Given the description of an element on the screen output the (x, y) to click on. 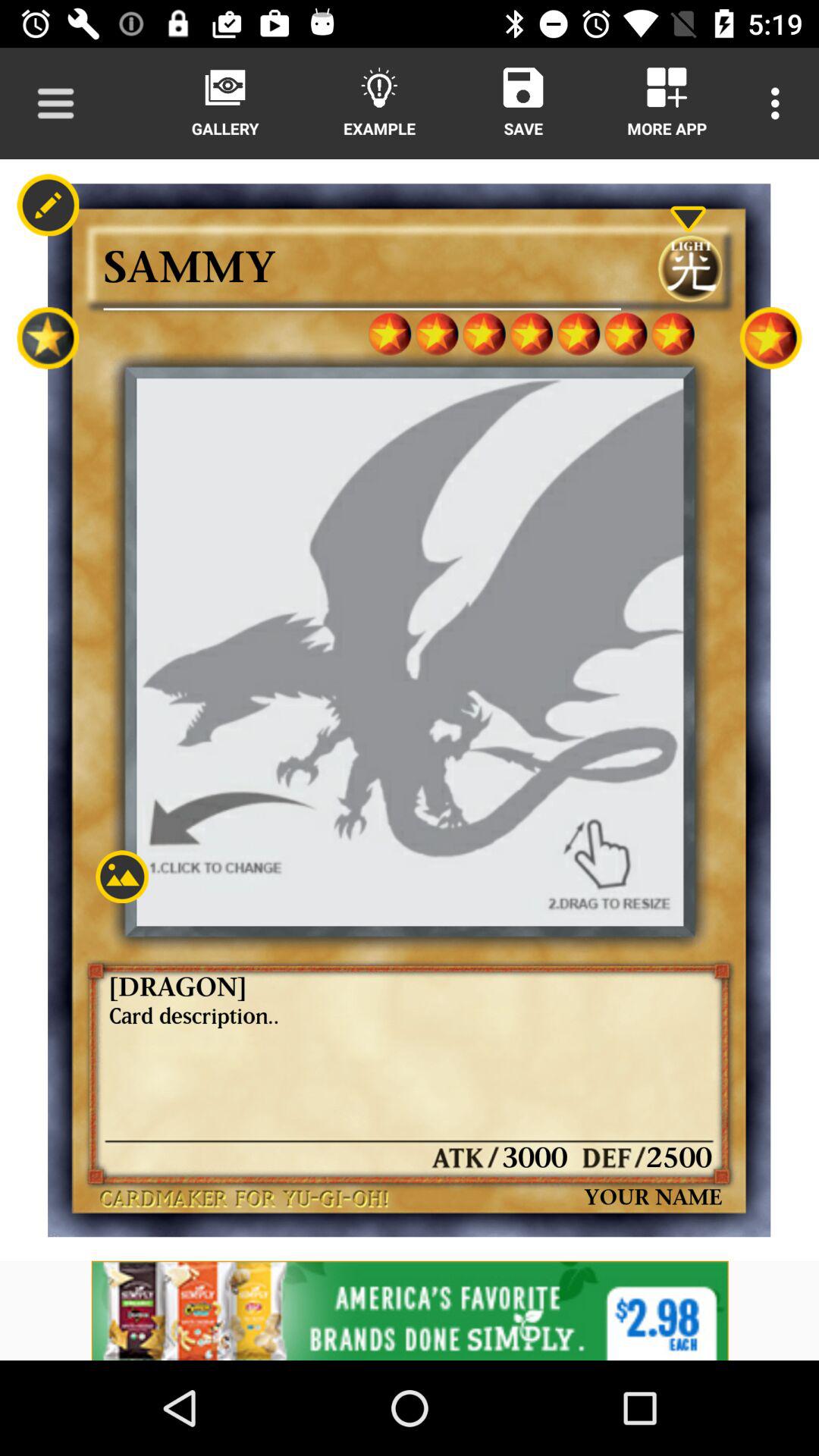
advertisement page (409, 1310)
